Given the description of an element on the screen output the (x, y) to click on. 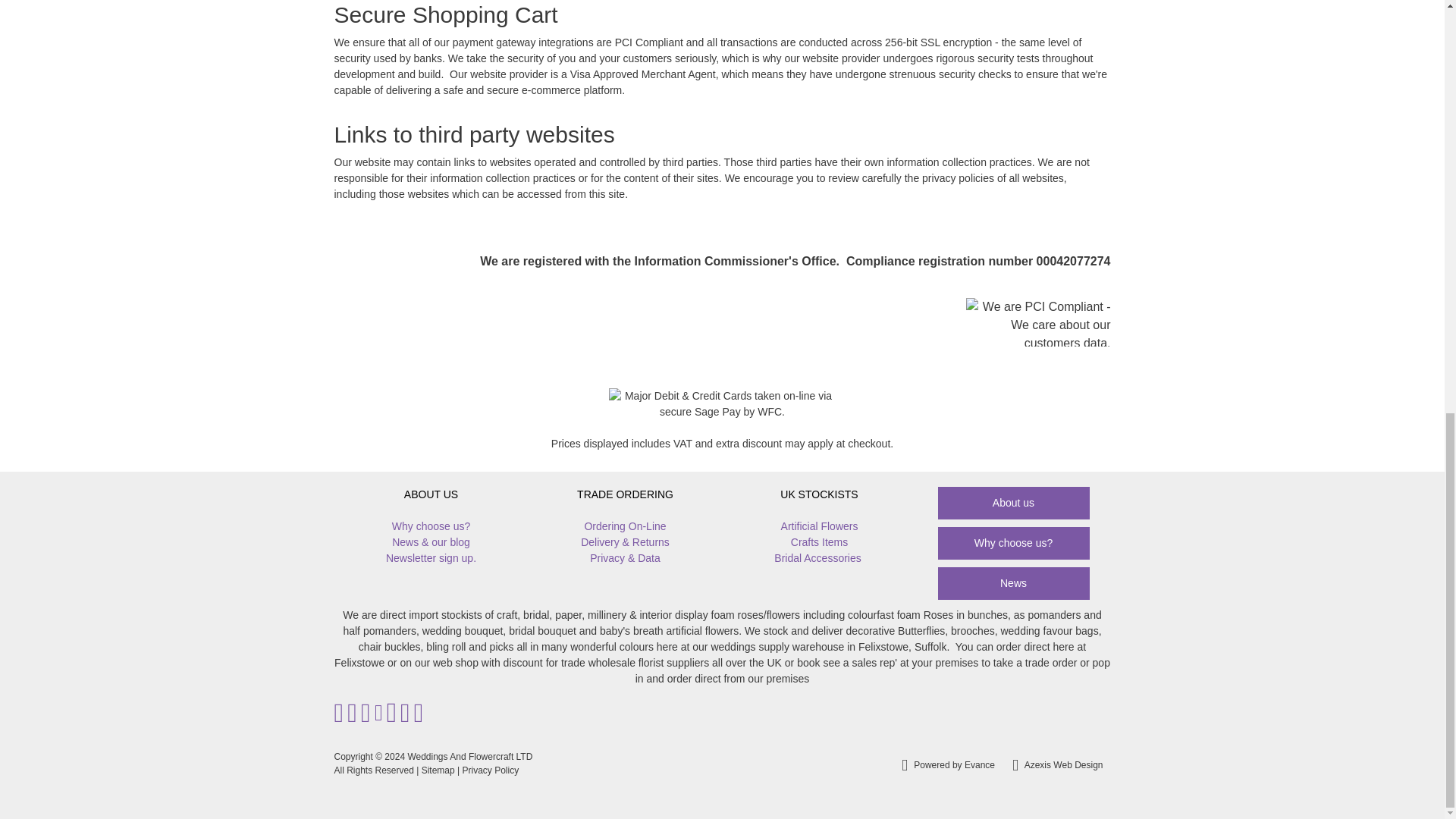
Artificial Flowers (819, 526)
About us (1013, 502)
Crafts Items (818, 542)
News (1013, 583)
Ordering On-Line (624, 526)
Why choose us? (430, 526)
Bridal Accessories (817, 558)
Why choose us? (1013, 543)
Newsletter sign up. (430, 558)
